Given the description of an element on the screen output the (x, y) to click on. 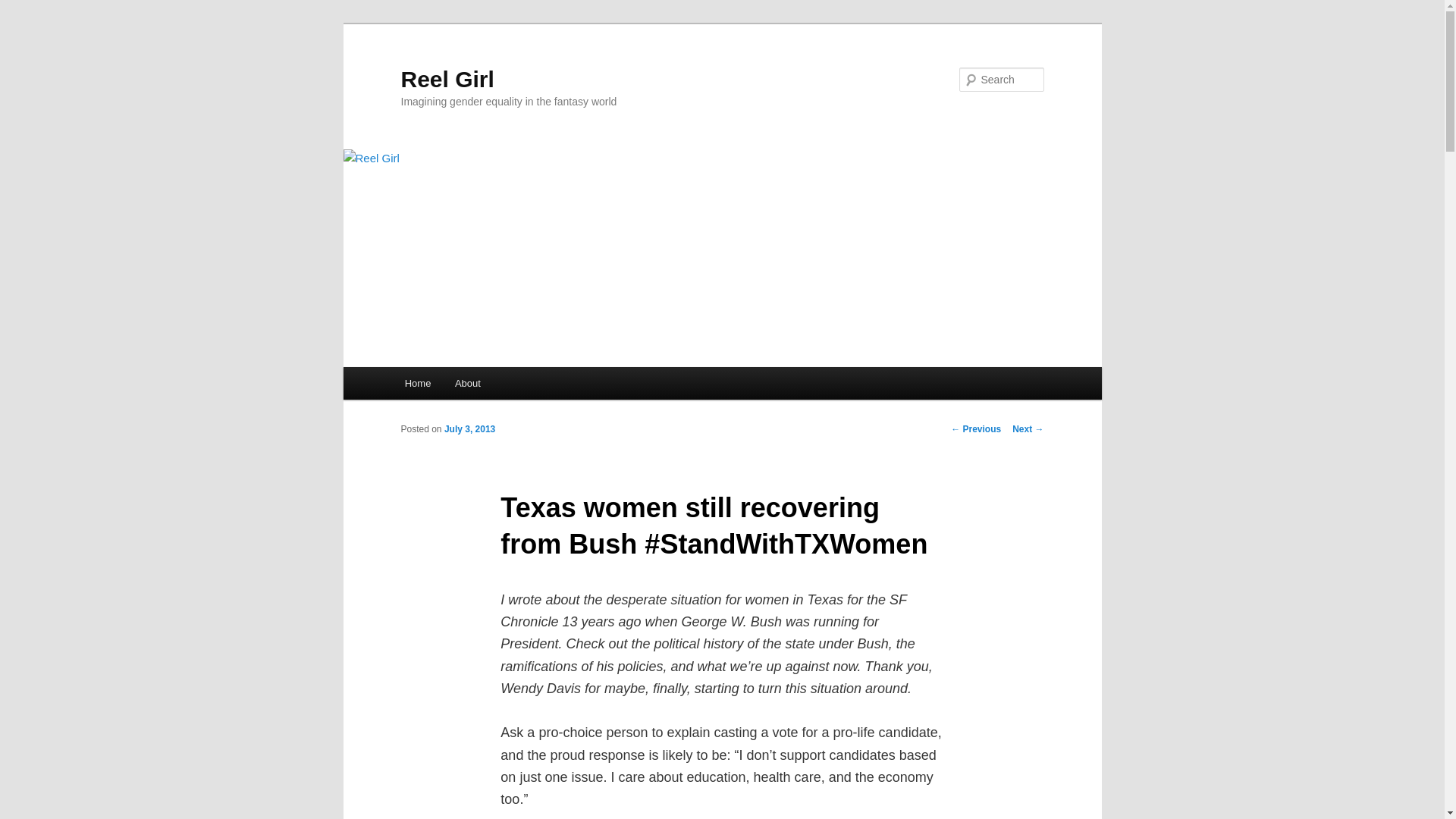
Home (417, 382)
Search (24, 8)
About (467, 382)
12:41 pm (469, 429)
Reel Girl (446, 78)
July 3, 2013 (469, 429)
